Given the description of an element on the screen output the (x, y) to click on. 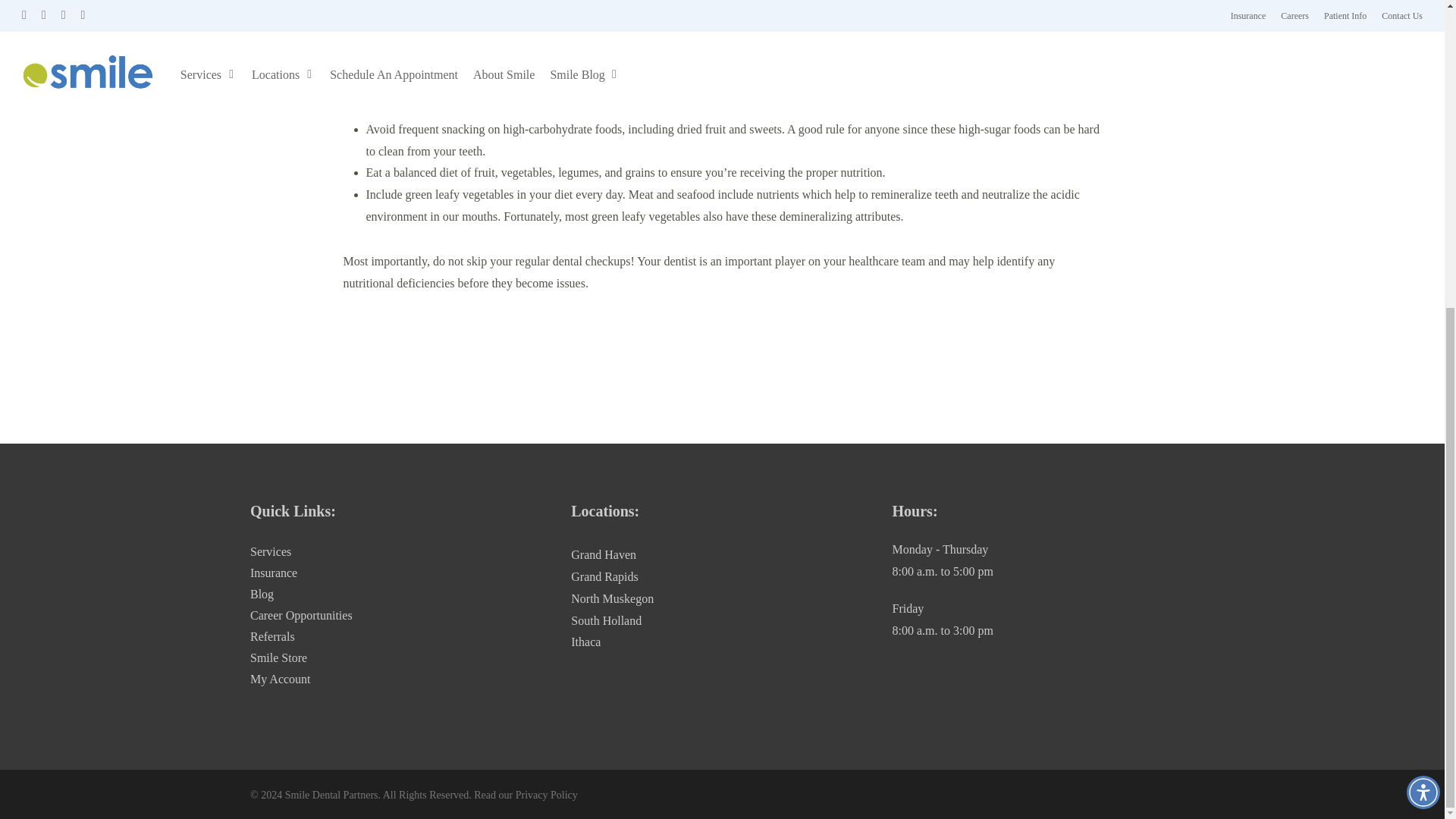
Insurance (400, 572)
Accessibility Menu (1422, 305)
Services (400, 551)
